Given the description of an element on the screen output the (x, y) to click on. 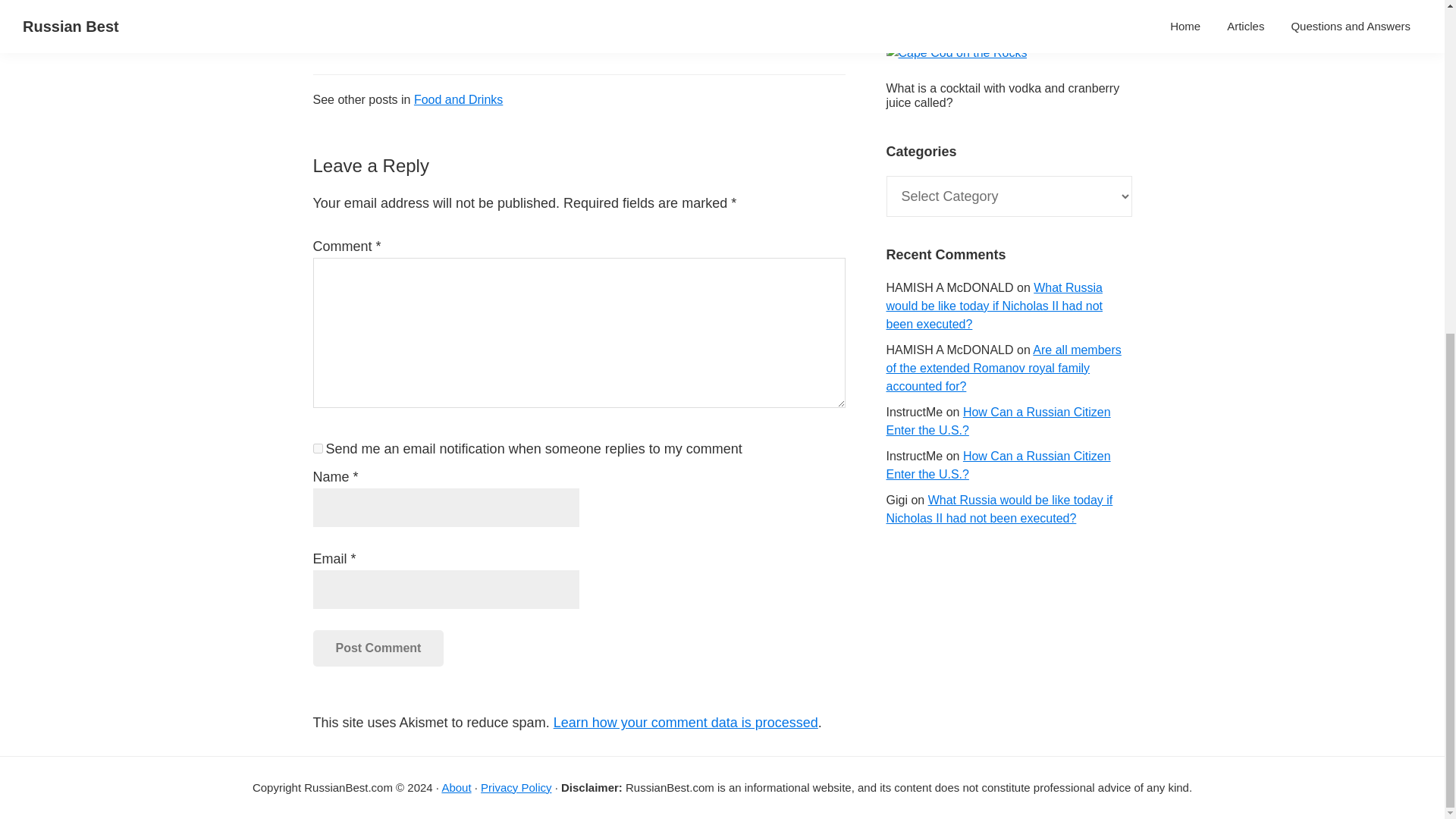
How Can a Russian Citizen Enter the U.S.? (997, 464)
How Can a Russian Citizen Enter the U.S.? (997, 420)
Food and Drinks (457, 99)
Post Comment (378, 647)
What is a cocktail with vodka and cranberry juice called? (1002, 94)
1 (317, 448)
Learn how your comment data is processed (685, 722)
About (455, 787)
Post Comment (378, 647)
Subway Dogs of Moscow (953, 16)
